Given the description of an element on the screen output the (x, y) to click on. 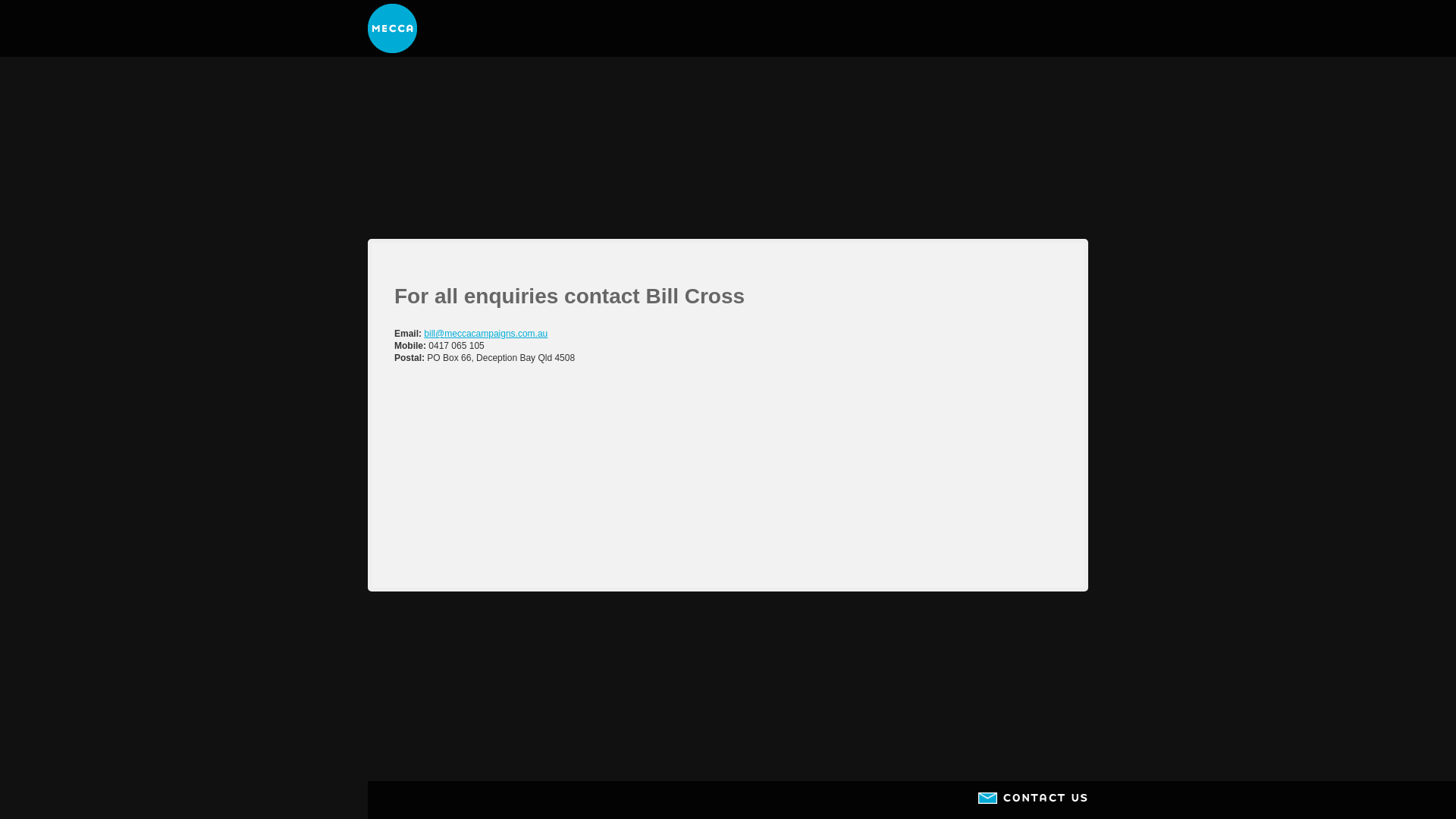
bill@meccacampaigns.com.au Element type: text (485, 333)
